Given the description of an element on the screen output the (x, y) to click on. 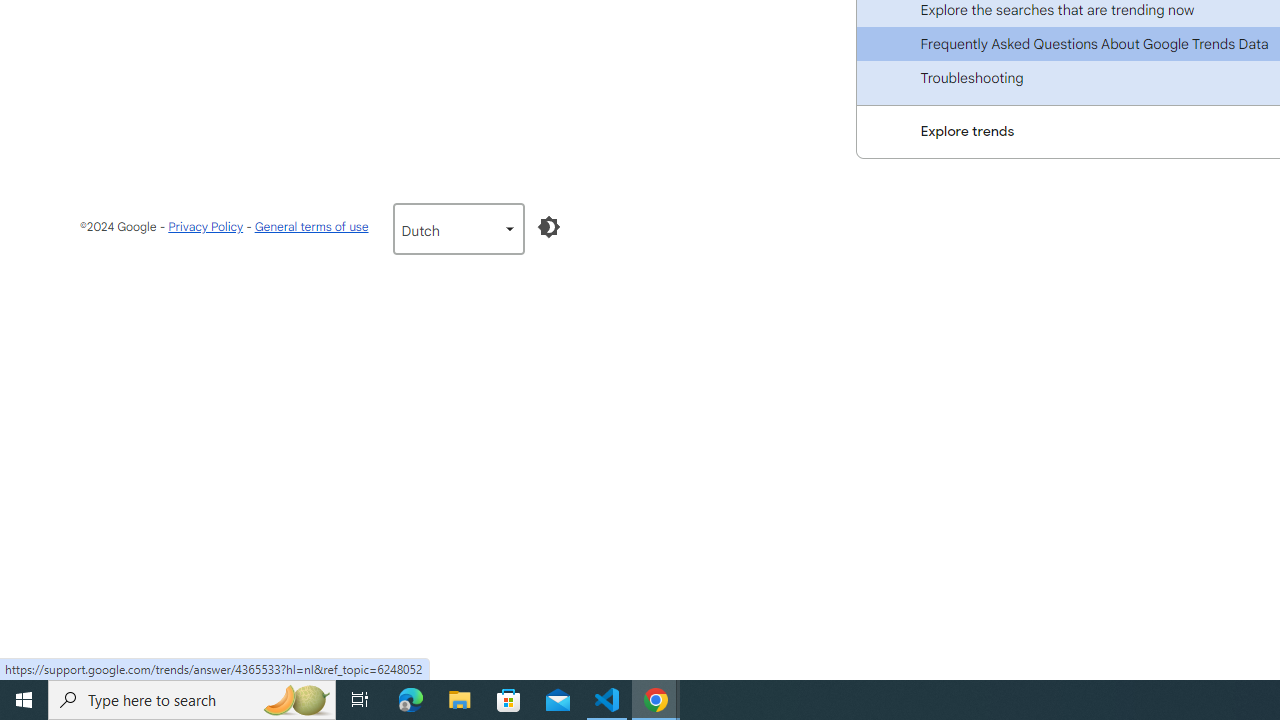
General terms of use (310, 226)
Enable dark mode (548, 227)
